Given the description of an element on the screen output the (x, y) to click on. 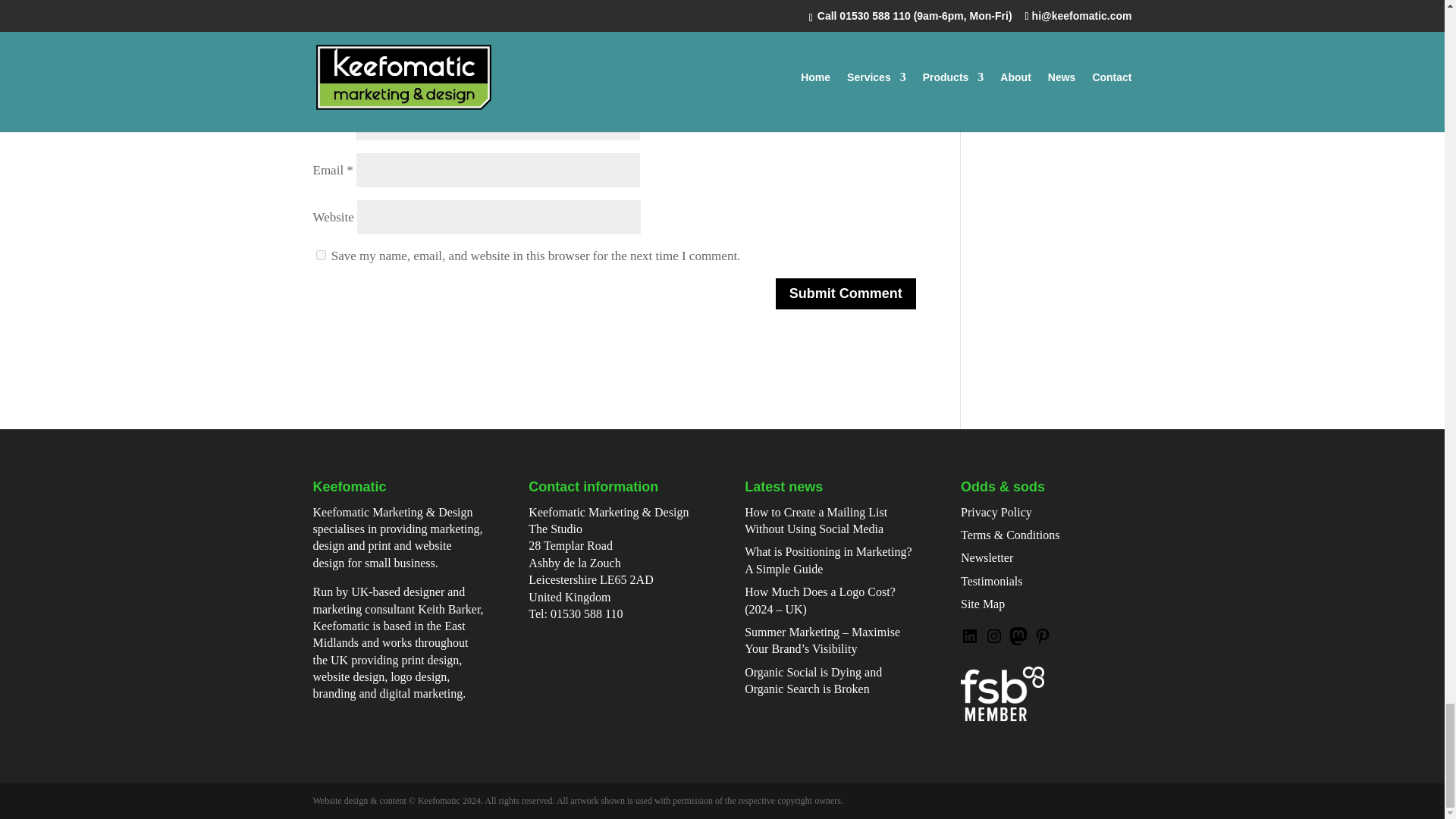
Submit Comment (845, 293)
Submit Comment (845, 293)
yes (319, 255)
